Given the description of an element on the screen output the (x, y) to click on. 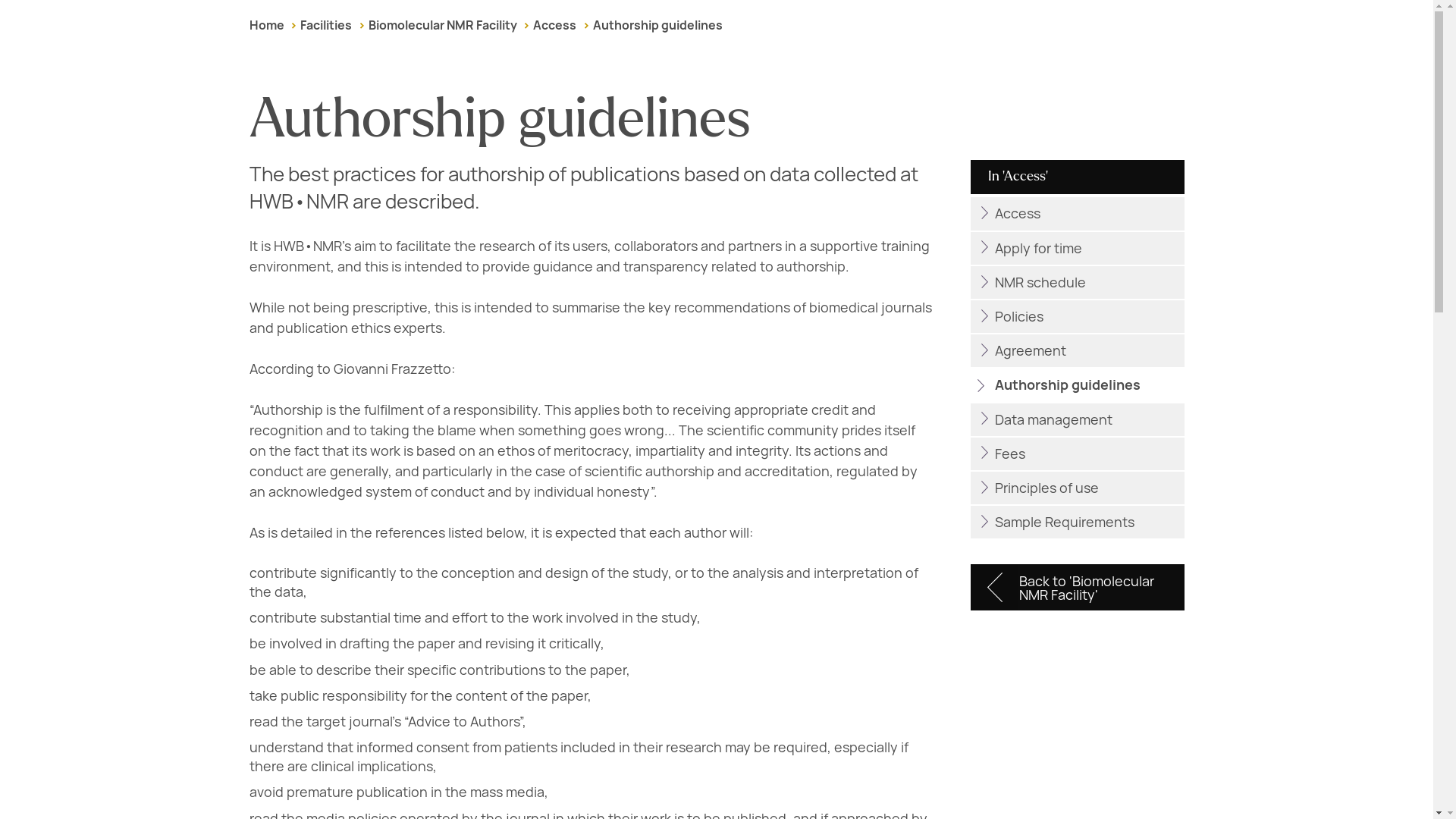
Principles of use (1077, 487)
Policies (1077, 316)
Agreement (1077, 350)
Authorship guidelines (1077, 384)
Biomolecular NMR Facility (442, 25)
Authorship guidelines (657, 25)
Access (1077, 213)
Fees (1077, 453)
Facilities (325, 25)
Sample Requirements (1077, 522)
Data management (1077, 419)
Apply for time (1077, 247)
NMR schedule (1077, 282)
Access (554, 25)
Back to 'Biomolecular NMR Facility' (1077, 587)
